Given the description of an element on the screen output the (x, y) to click on. 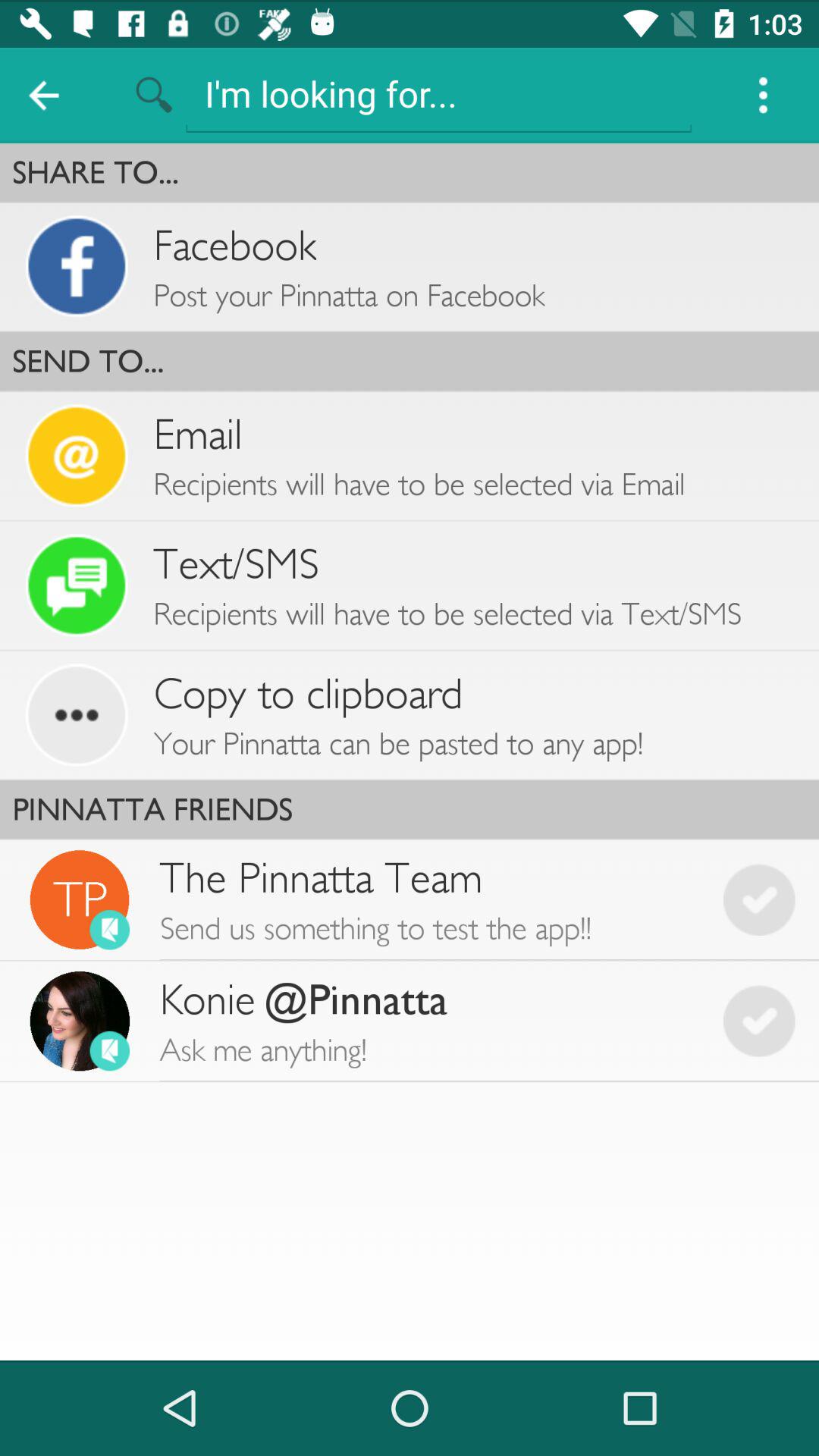
flip until pinnatta friends app (409, 809)
